Given the description of an element on the screen output the (x, y) to click on. 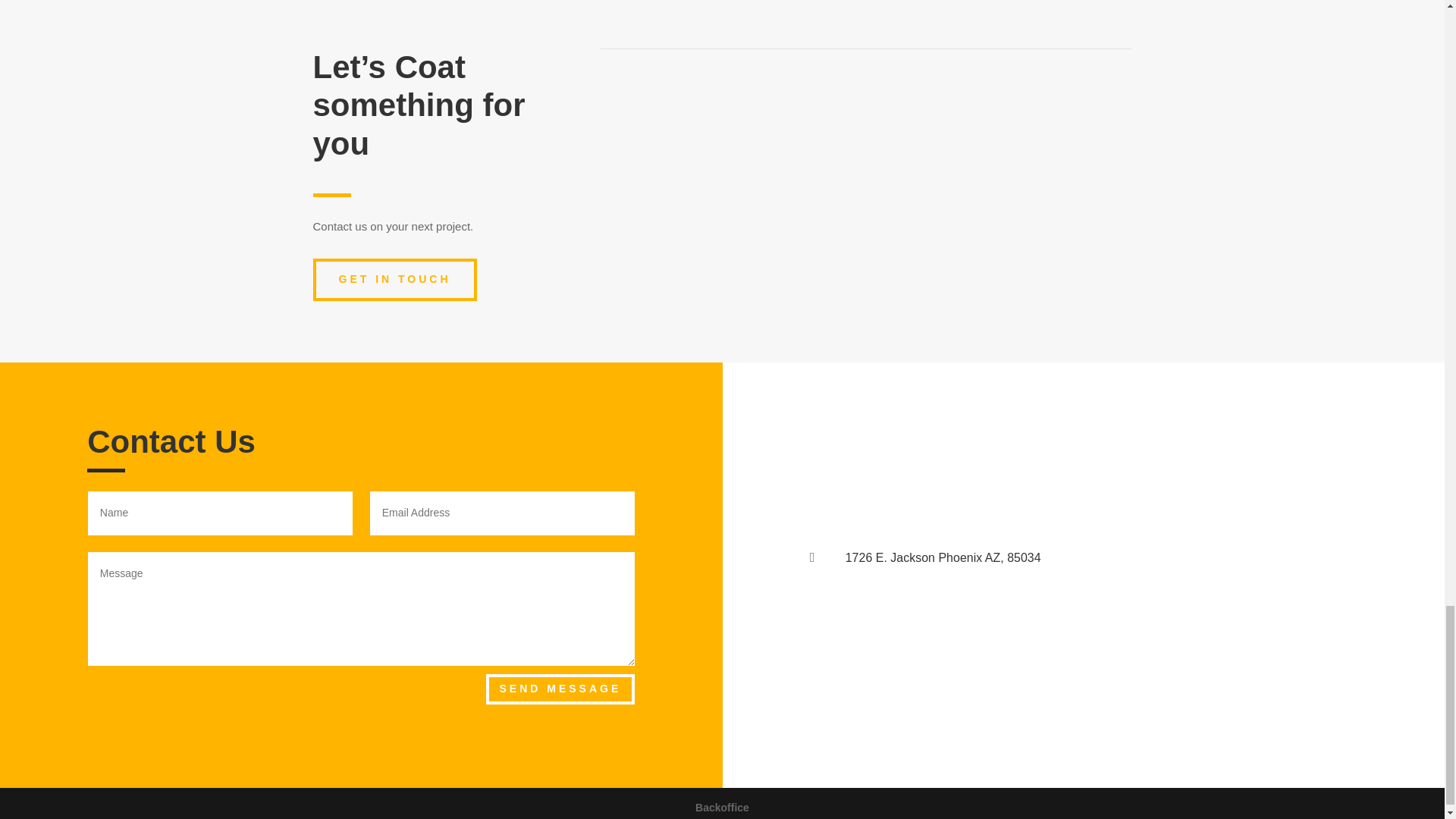
GET IN TOUCH (394, 279)
Backoffice (722, 807)
SEND MESSAGE (559, 689)
1726 E. Jackson Phoenix AZ, 85034 (943, 557)
